Given the description of an element on the screen output the (x, y) to click on. 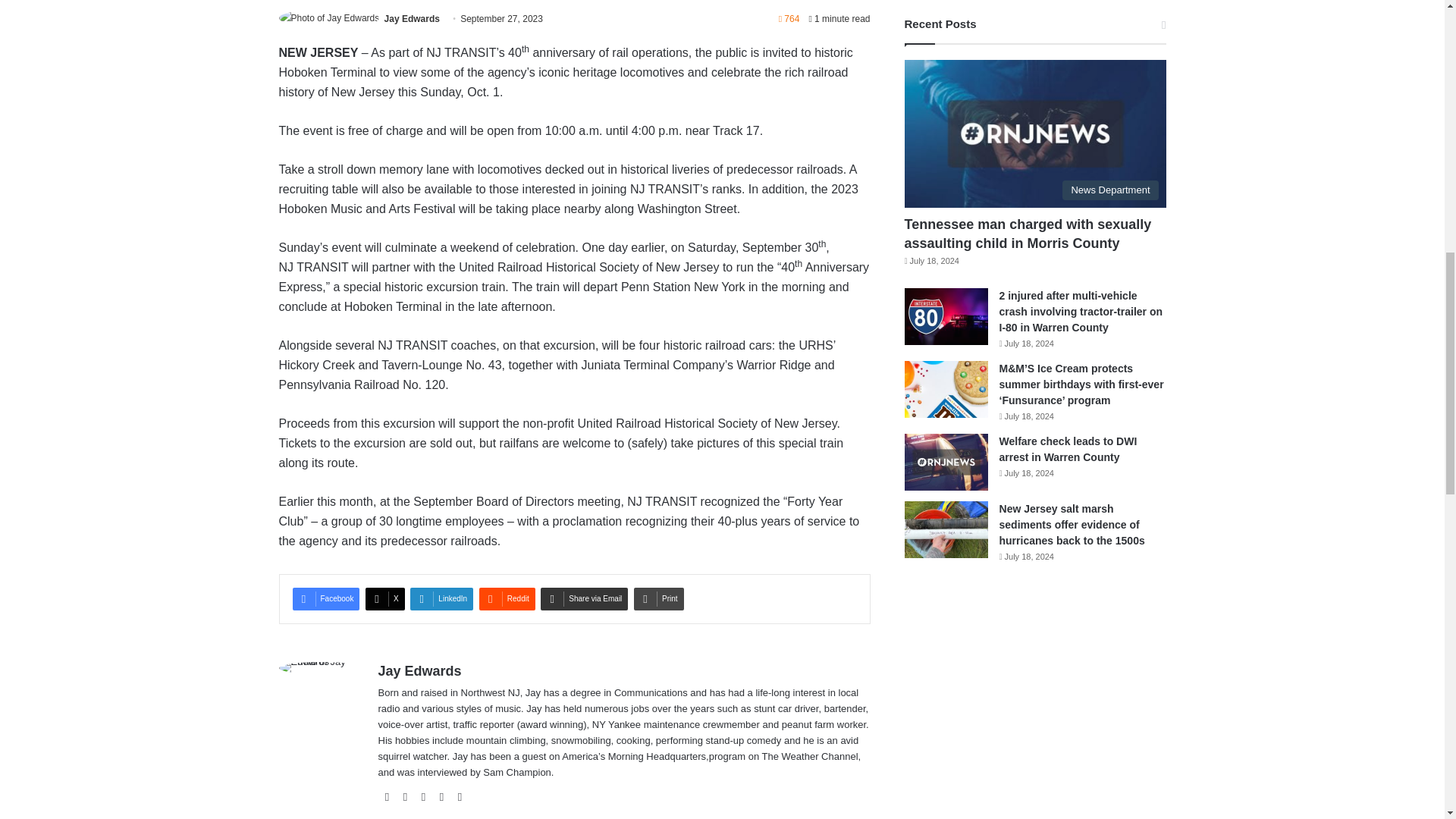
Share via Email (583, 599)
Reddit (507, 599)
Print (658, 599)
Facebook (325, 599)
Jay Edwards (411, 18)
LinkedIn (441, 599)
X (384, 599)
